Given the description of an element on the screen output the (x, y) to click on. 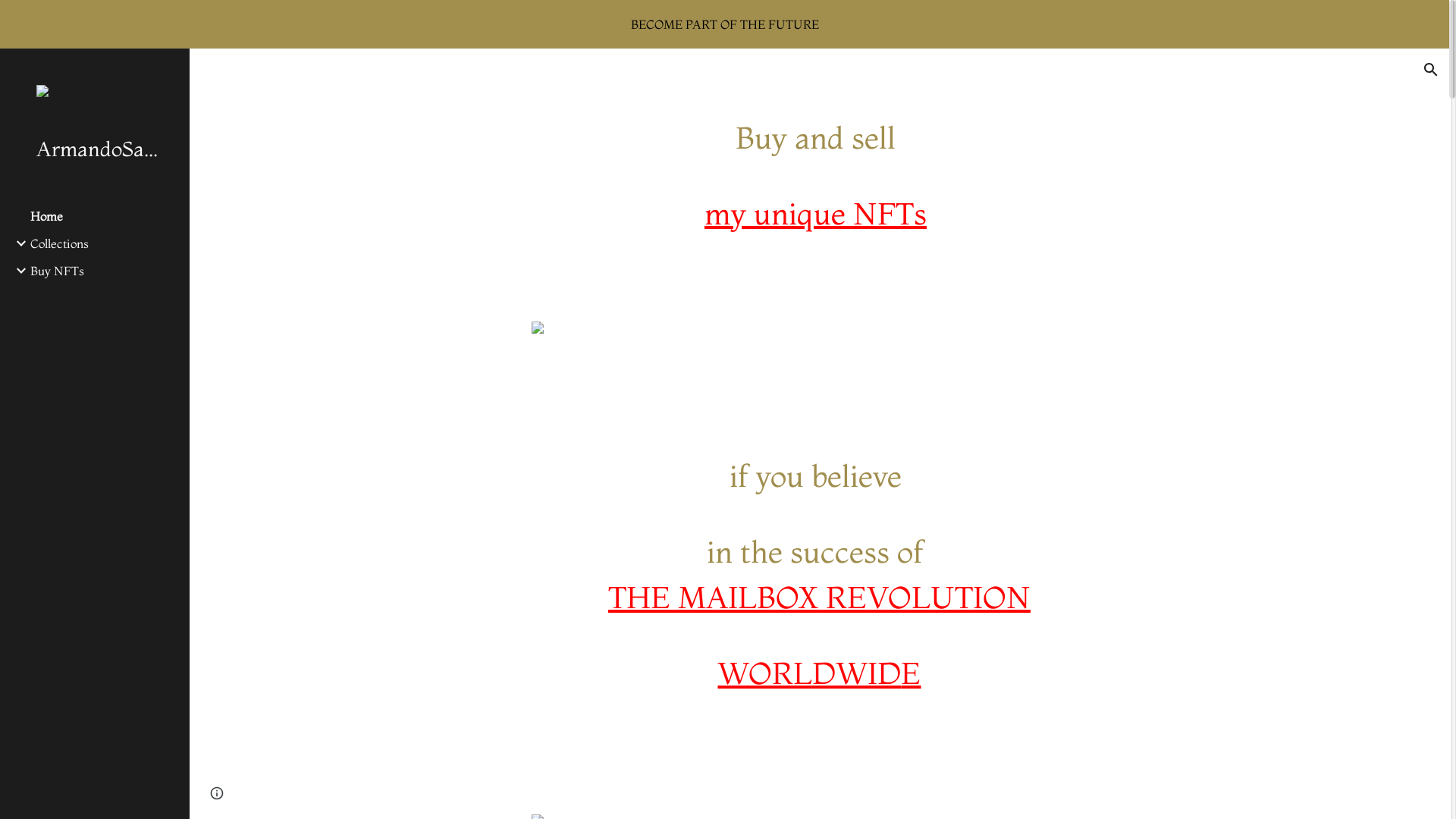
my unique NFTs Element type: text (815, 213)
WORLDWID Element type: text (808, 672)
Collections Element type: text (103, 243)
Buy NFTs Element type: text (103, 270)
E Element type: text (910, 672)
Home Element type: text (103, 215)
ArmandoSantalucia.ch Element type: text (100, 148)
Expand/Collapse Element type: hover (16, 270)
Expand/Collapse Element type: hover (16, 243)
THE MAILBOX REVOLUTION Element type: text (819, 596)
